Given the description of an element on the screen output the (x, y) to click on. 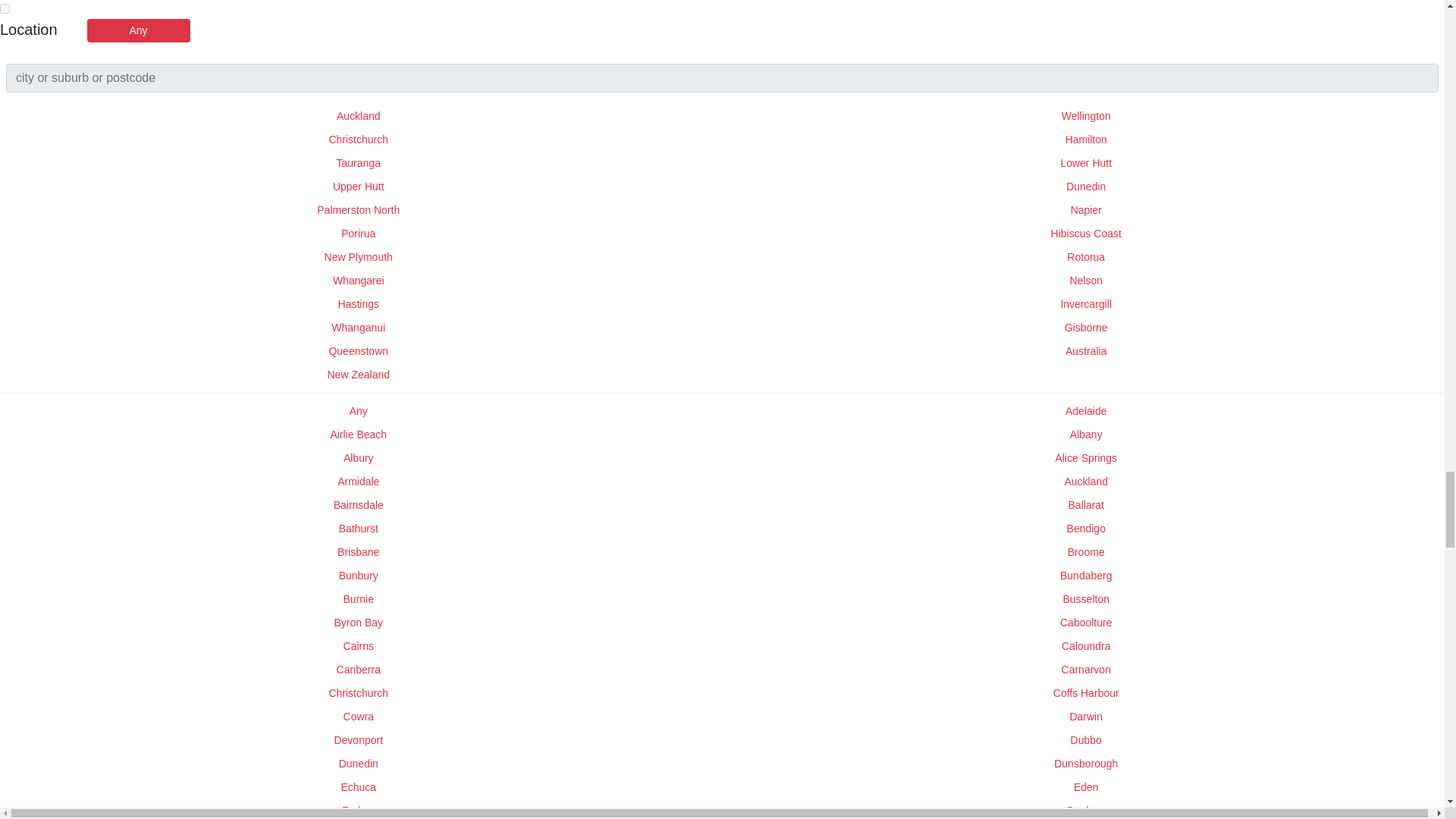
on (5, 8)
on (5, 8)
